Given the description of an element on the screen output the (x, y) to click on. 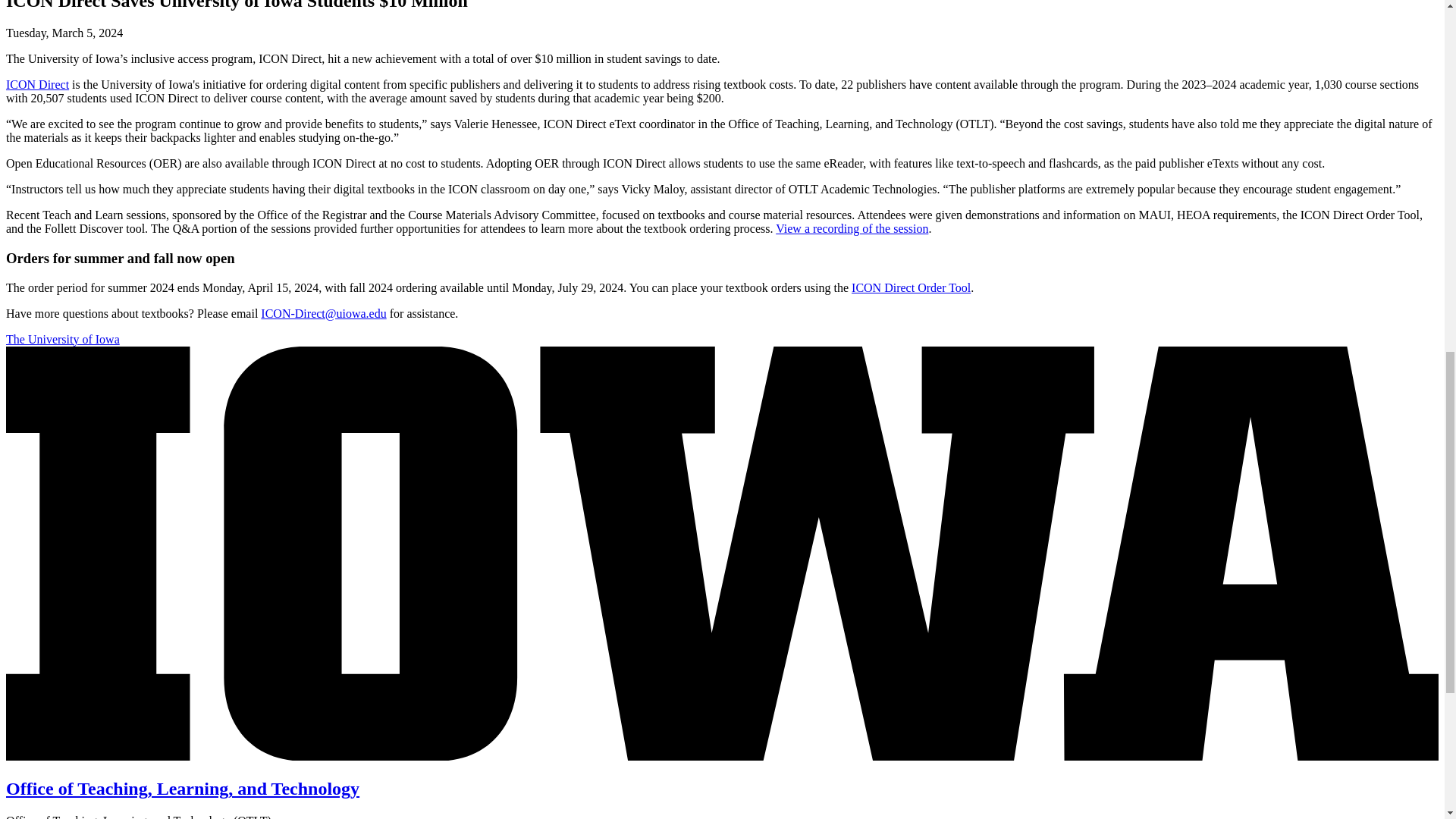
View a recording of the session (852, 228)
ICON Direct (36, 83)
ICON Direct (36, 83)
ICON Direct Order Tool (911, 287)
